Given the description of an element on the screen output the (x, y) to click on. 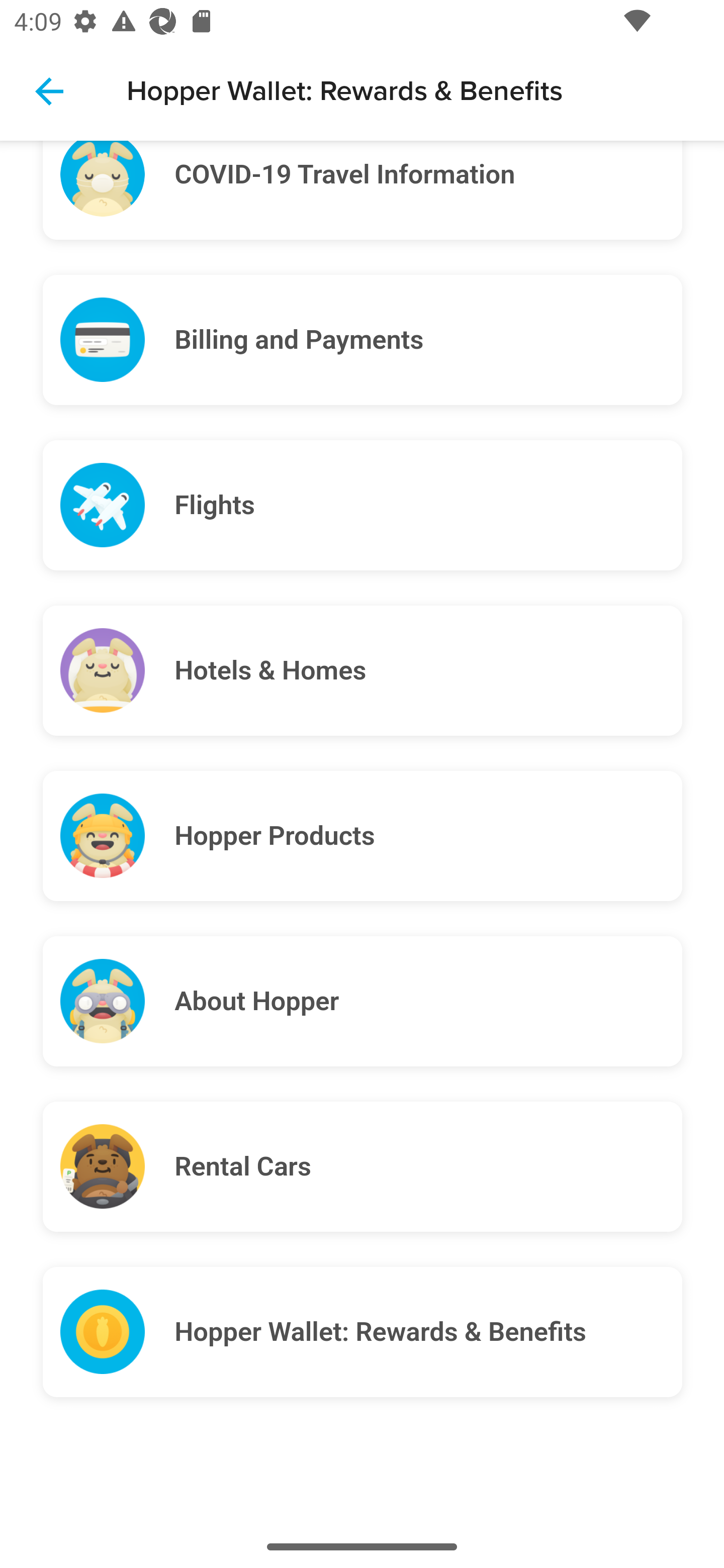
Navigate up (49, 91)
COVID-19 Travel Information (428, 192)
Billing and Payments (428, 340)
Flights (428, 506)
Hotels & Homes (428, 671)
Hopper Products (428, 836)
About Hopper (428, 1002)
Rental Cars (428, 1167)
Hopper Wallet: Rewards & Benefits (428, 1333)
